Given the description of an element on the screen output the (x, y) to click on. 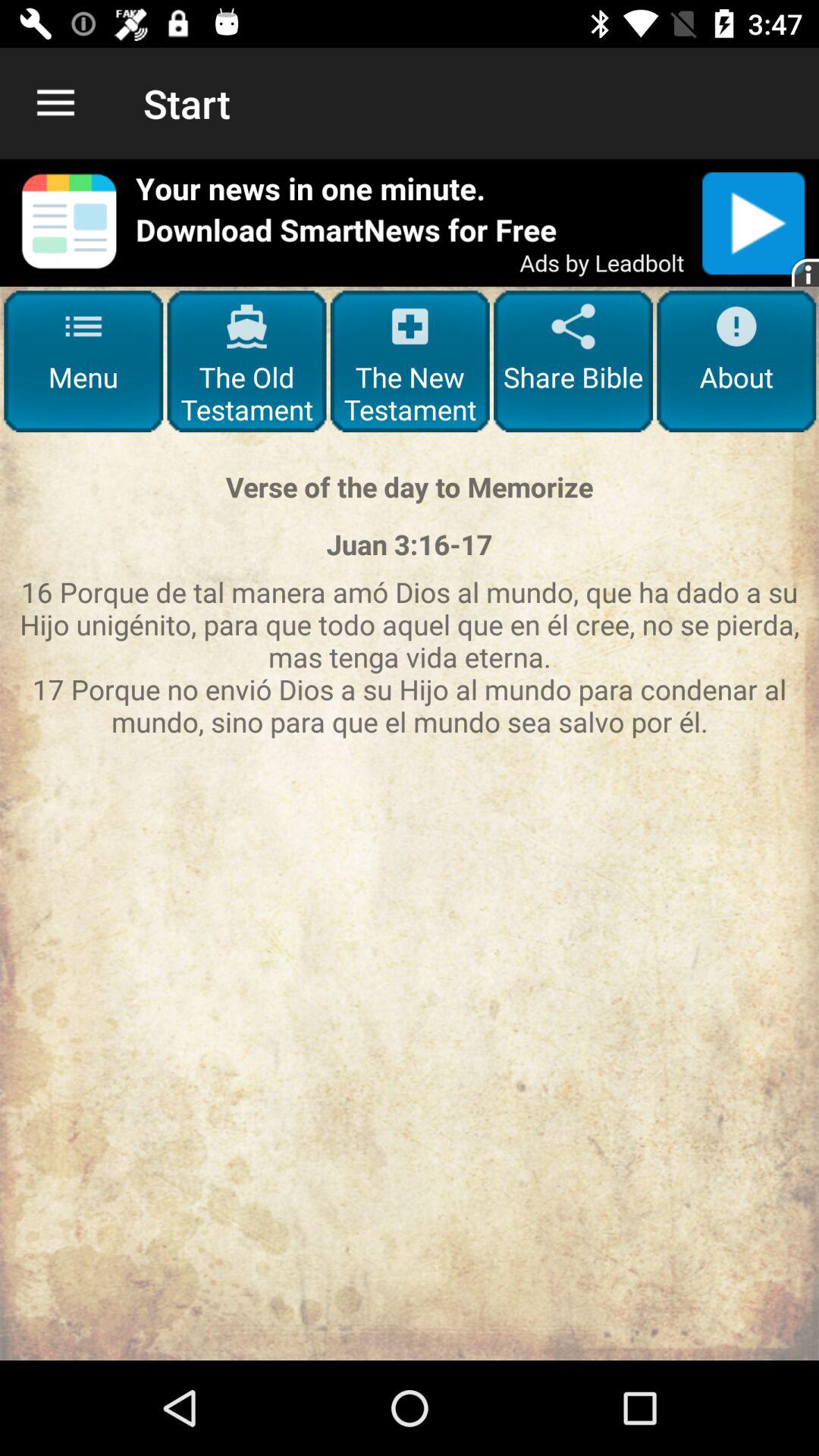
share the article (409, 222)
